Given the description of an element on the screen output the (x, y) to click on. 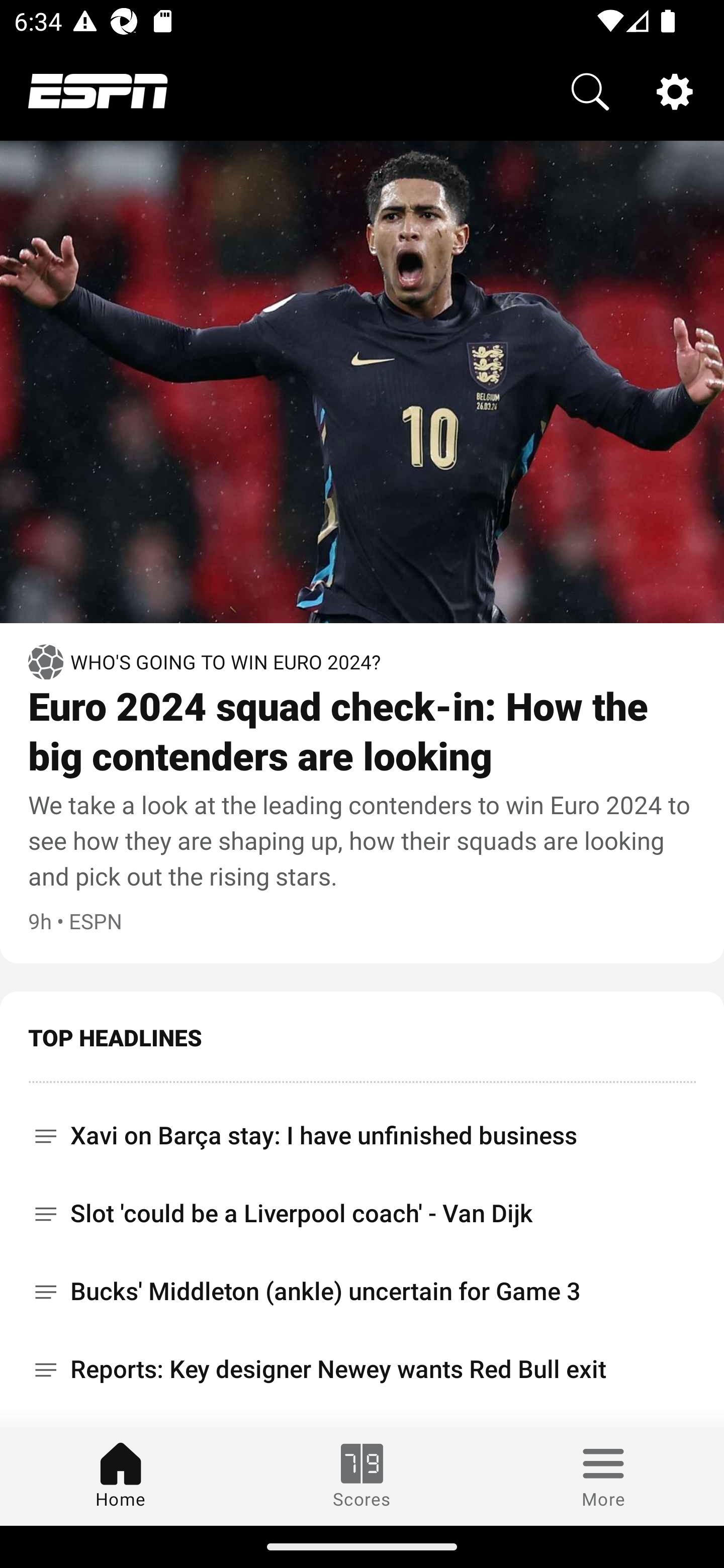
Search (590, 90)
Settings (674, 90)
 Xavi on Barça stay: I have unfinished business (362, 1128)
 Slot 'could be a Liverpool coach' - Van Dijk (362, 1213)
 Bucks' Middleton (ankle) uncertain for Game 3 (362, 1291)
 Reports: Key designer Newey wants Red Bull exit (362, 1369)
Scores (361, 1475)
More (603, 1475)
